Given the description of an element on the screen output the (x, y) to click on. 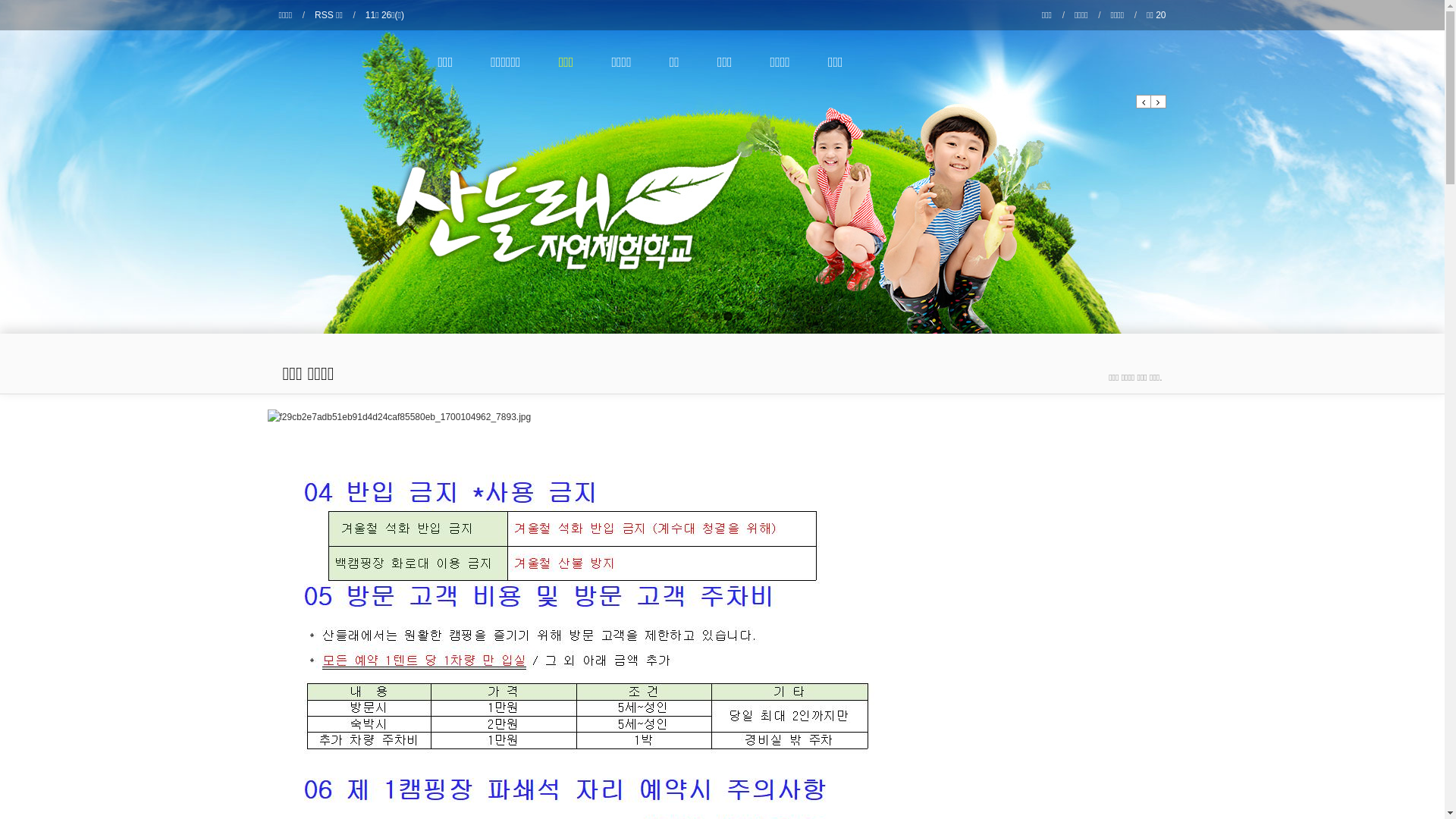
  Element type: text (721, 208)
f29cb2e7adb51eb91d4d24caf85580eb_1700104962_7893.jpg Element type: hover (398, 417)
Next Element type: text (1158, 101)
Previous Element type: text (1143, 101)
